Given the description of an element on the screen output the (x, y) to click on. 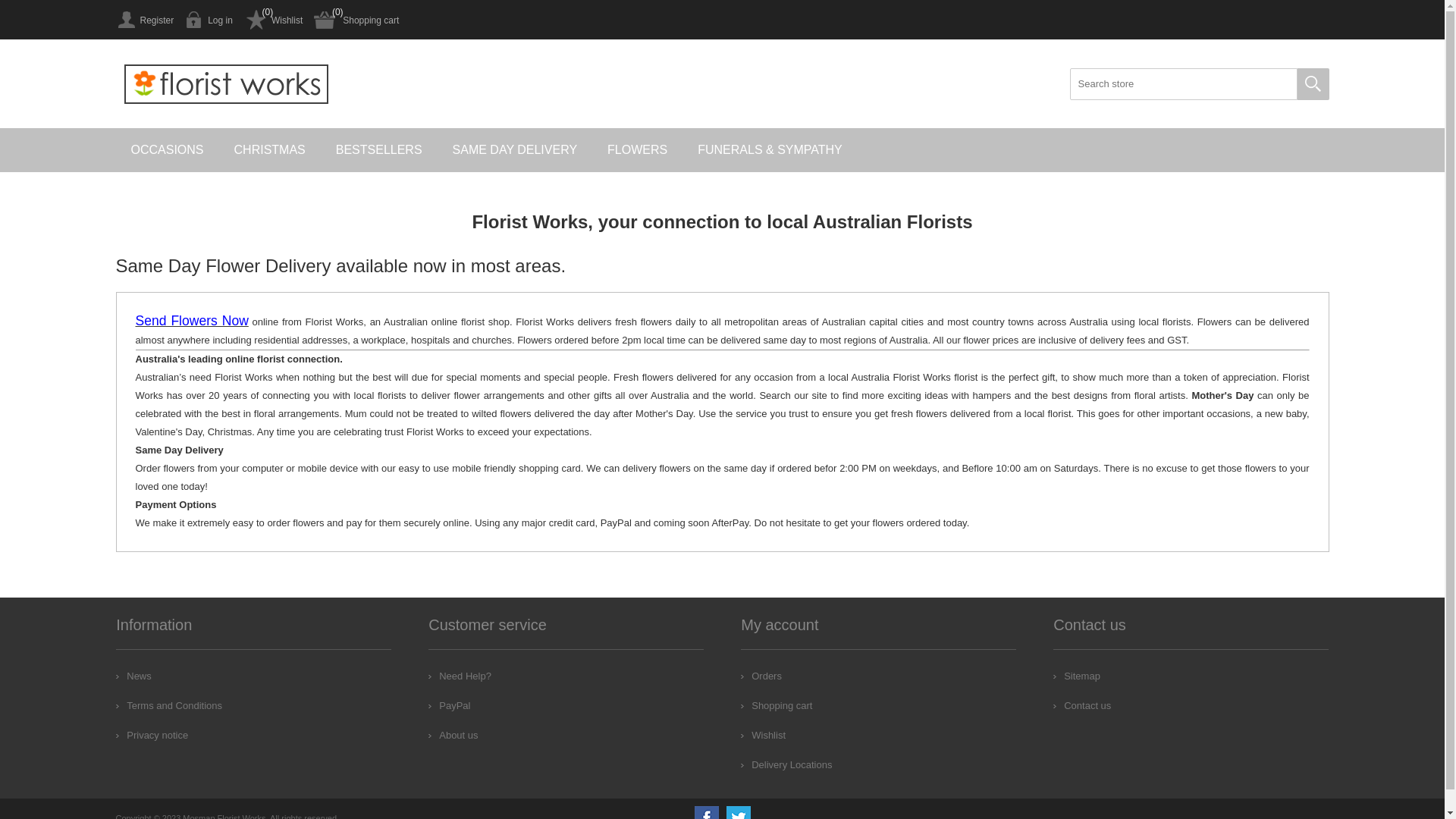
PayPal Element type: text (449, 705)
Contact us Element type: text (1081, 705)
Privacy notice Element type: text (152, 734)
Sitemap Element type: text (1076, 675)
Need Help? Element type: text (459, 675)
Search Element type: text (1312, 84)
News Element type: text (133, 675)
BESTSELLERS Element type: text (378, 150)
OCCASIONS Element type: text (166, 150)
About us Element type: text (452, 734)
Wishlist Element type: text (762, 734)
Delivery Locations Element type: text (785, 764)
Send Flowers Now Element type: text (190, 321)
Shopping cart Element type: text (776, 705)
SAME DAY DELIVERY Element type: text (515, 150)
FUNERALS & SYMPATHY Element type: text (769, 150)
Log in Element type: text (208, 19)
Orders Element type: text (760, 675)
Terms and Conditions Element type: text (169, 705)
Shopping cart Element type: text (355, 19)
FLOWERS Element type: text (637, 150)
CHRISTMAS Element type: text (269, 150)
Wishlist Element type: text (273, 19)
Register Element type: text (144, 19)
